Given the description of an element on the screen output the (x, y) to click on. 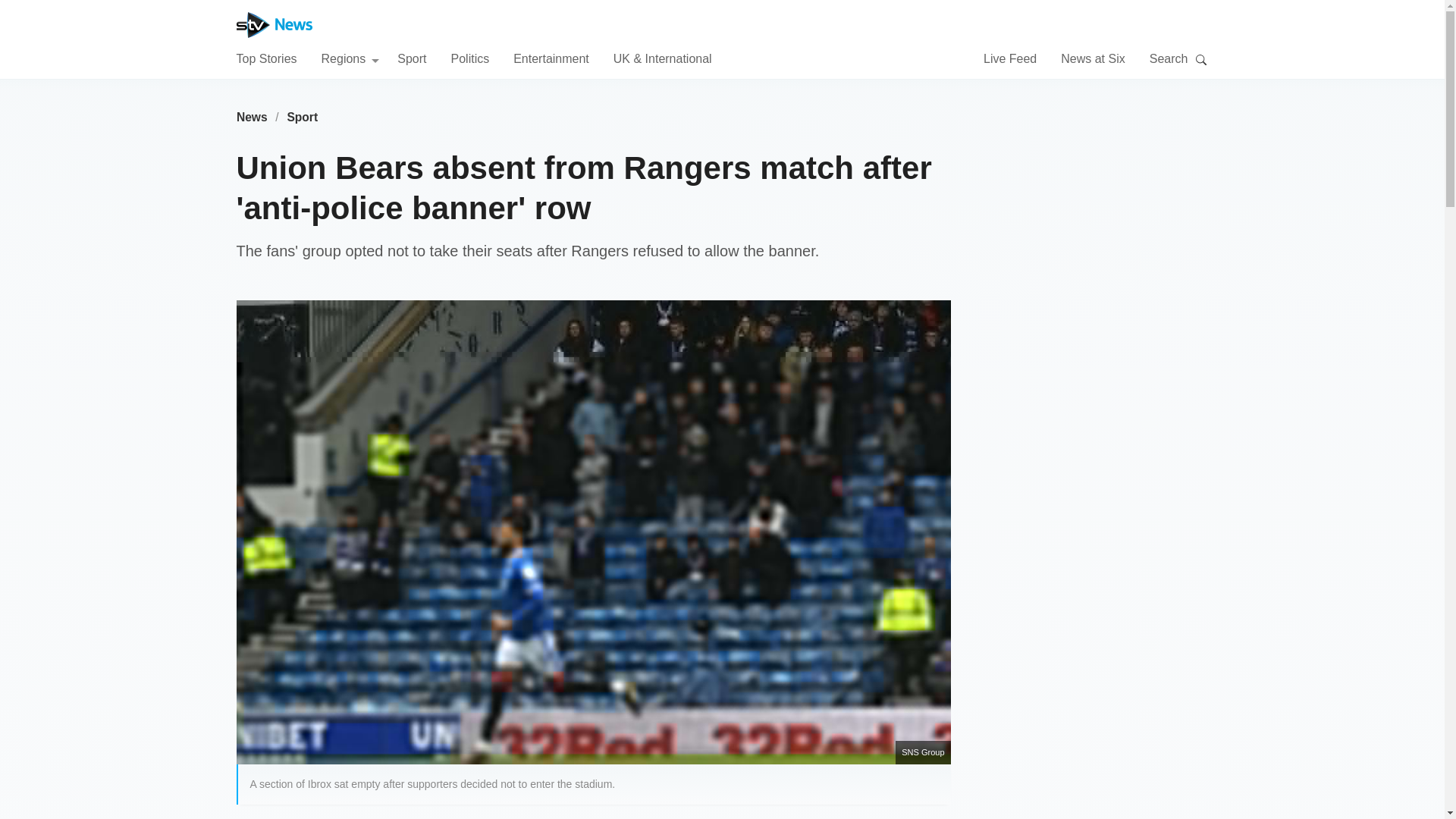
Politics (469, 57)
Regions (350, 57)
Live Feed (1010, 57)
Search (1201, 59)
Sport (302, 116)
News at Six (1092, 57)
News (252, 116)
Entertainment (551, 57)
Top Stories (266, 57)
Sport (411, 57)
